Given the description of an element on the screen output the (x, y) to click on. 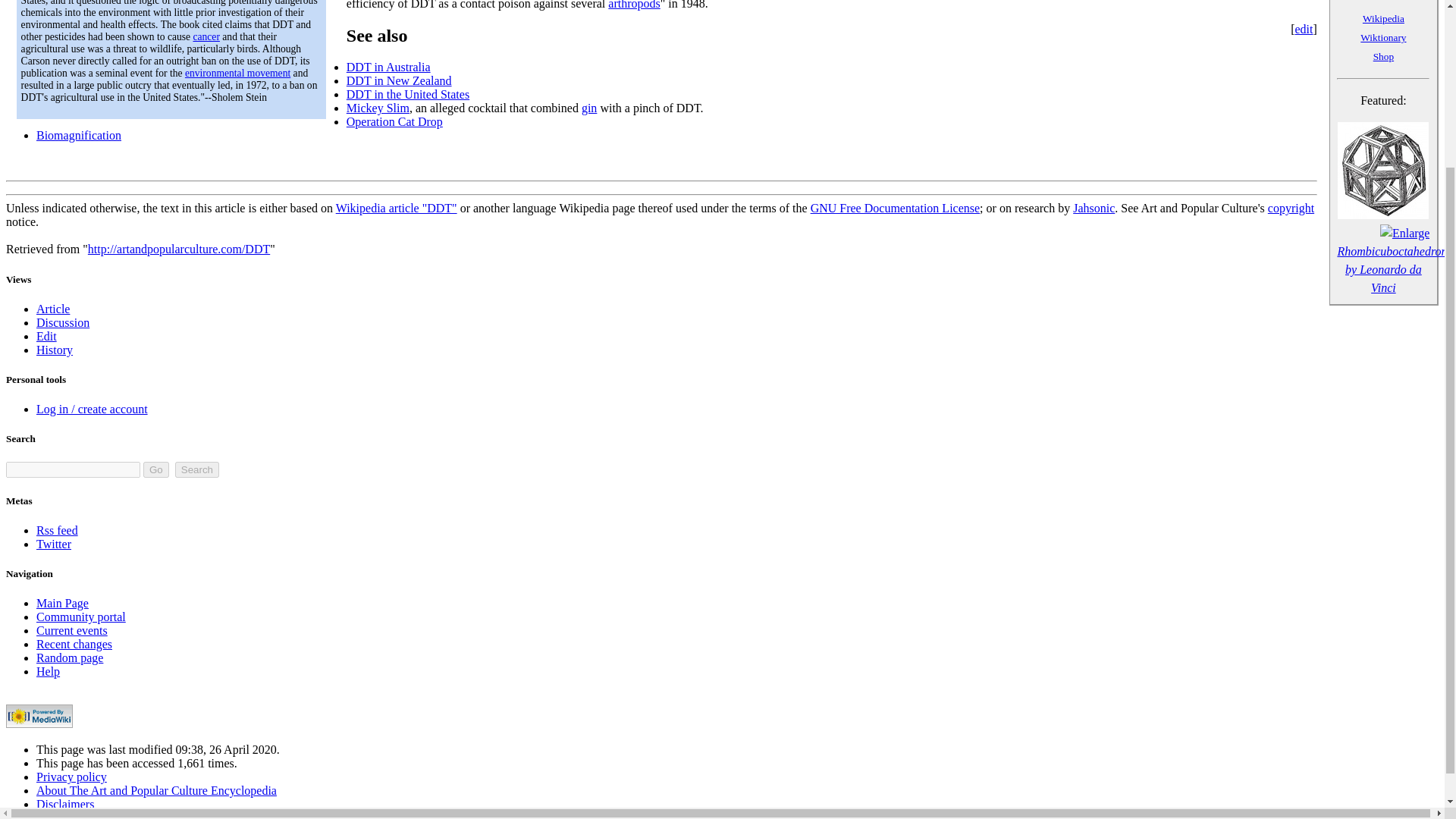
DDT in New Zealand (398, 80)
GNU Free Documentation License (894, 207)
Biomagnification (78, 134)
Cancer (205, 36)
Enlarge (1404, 232)
Shop (1383, 56)
Search (196, 469)
Operation Cat Drop (394, 121)
Wikipedia article "DDT" (396, 207)
arthropods (633, 4)
